Given the description of an element on the screen output the (x, y) to click on. 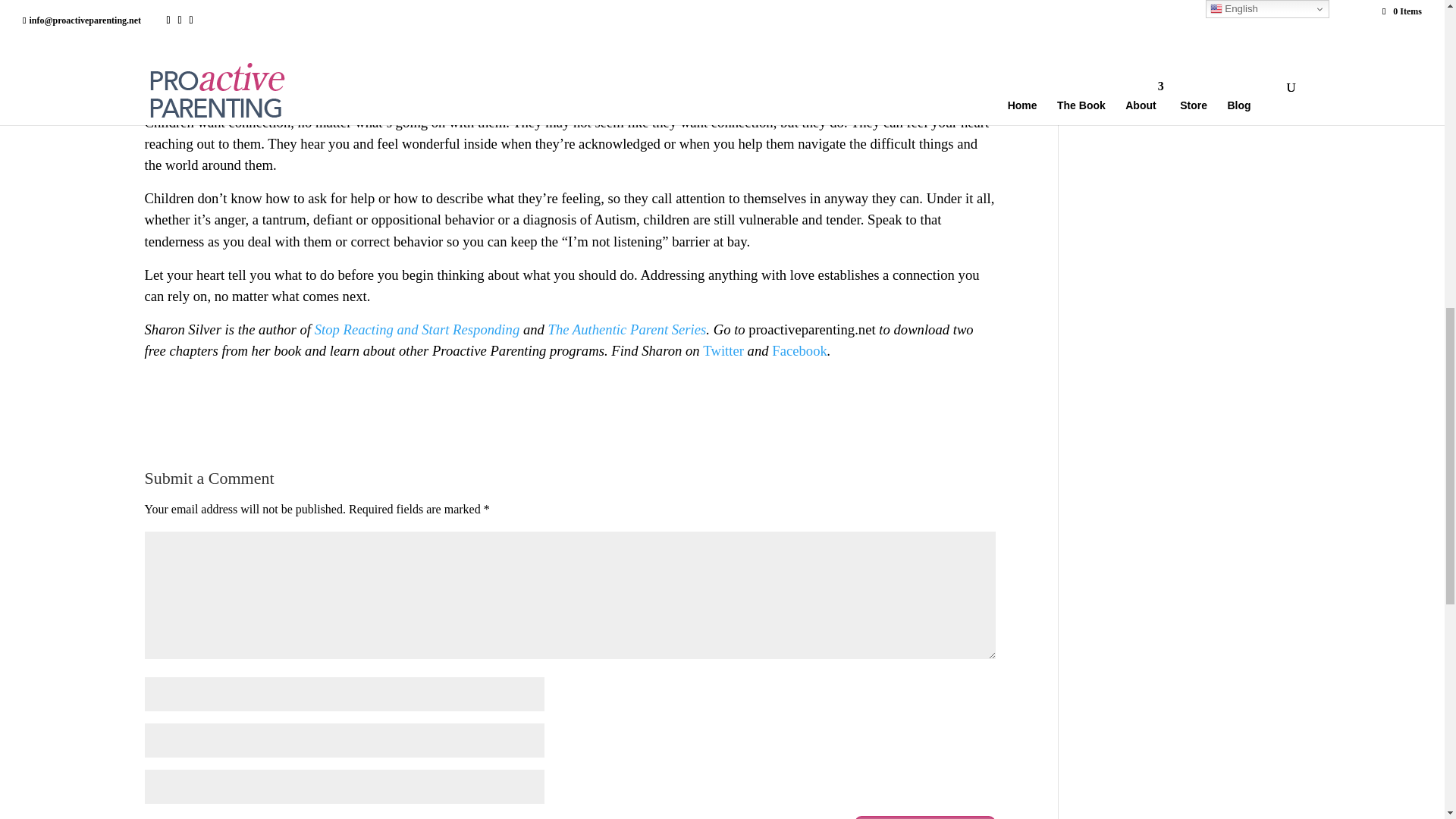
Submit Comment (924, 817)
Twitter (723, 350)
Submit Comment (924, 817)
The (560, 329)
Stop Reacting and Start Responding (416, 329)
proactiveparenting.net (811, 329)
Facebook (799, 350)
Authentic Parent Series (639, 329)
